Given the description of an element on the screen output the (x, y) to click on. 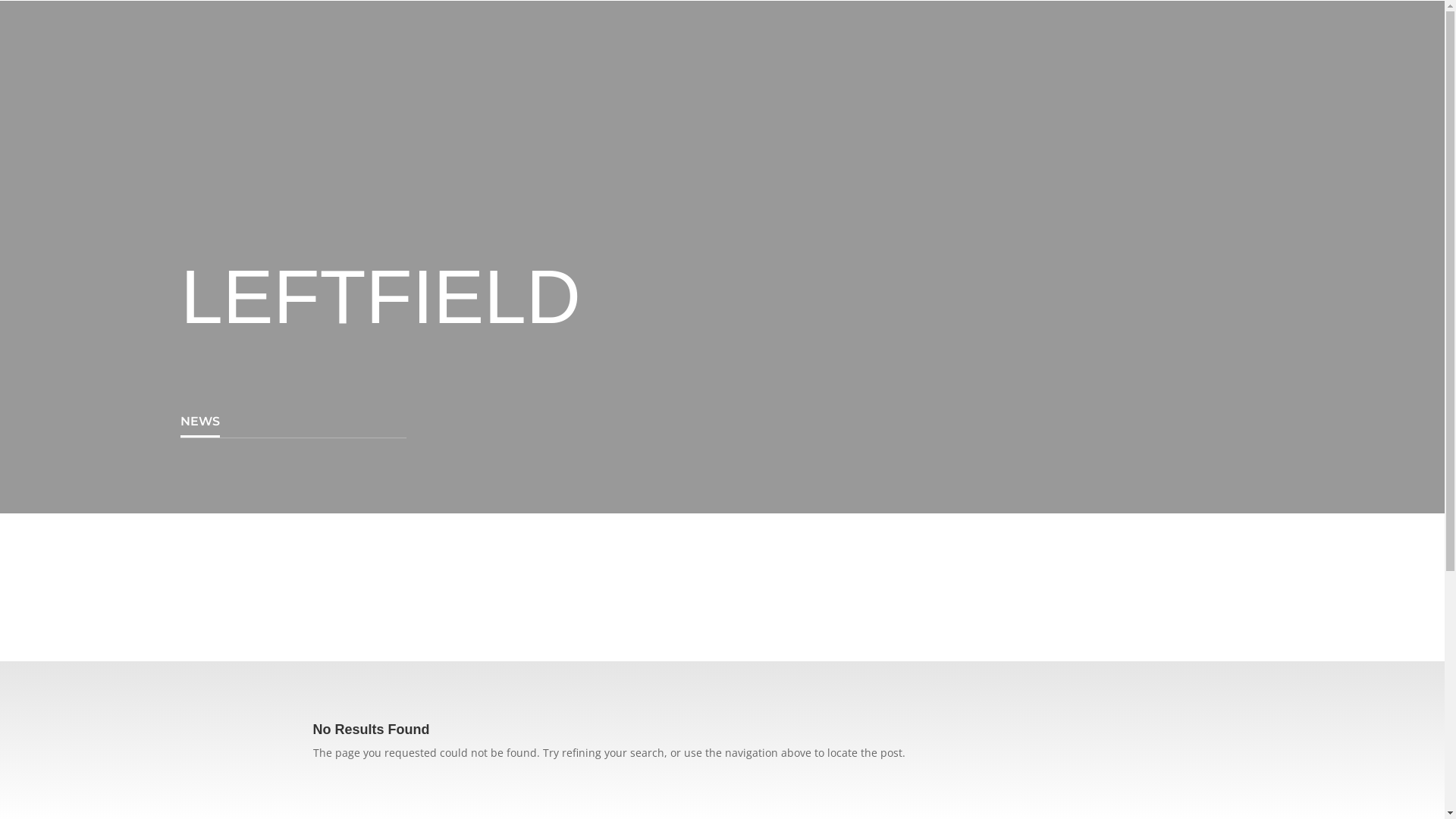
NEWS Element type: text (199, 422)
